Given the description of an element on the screen output the (x, y) to click on. 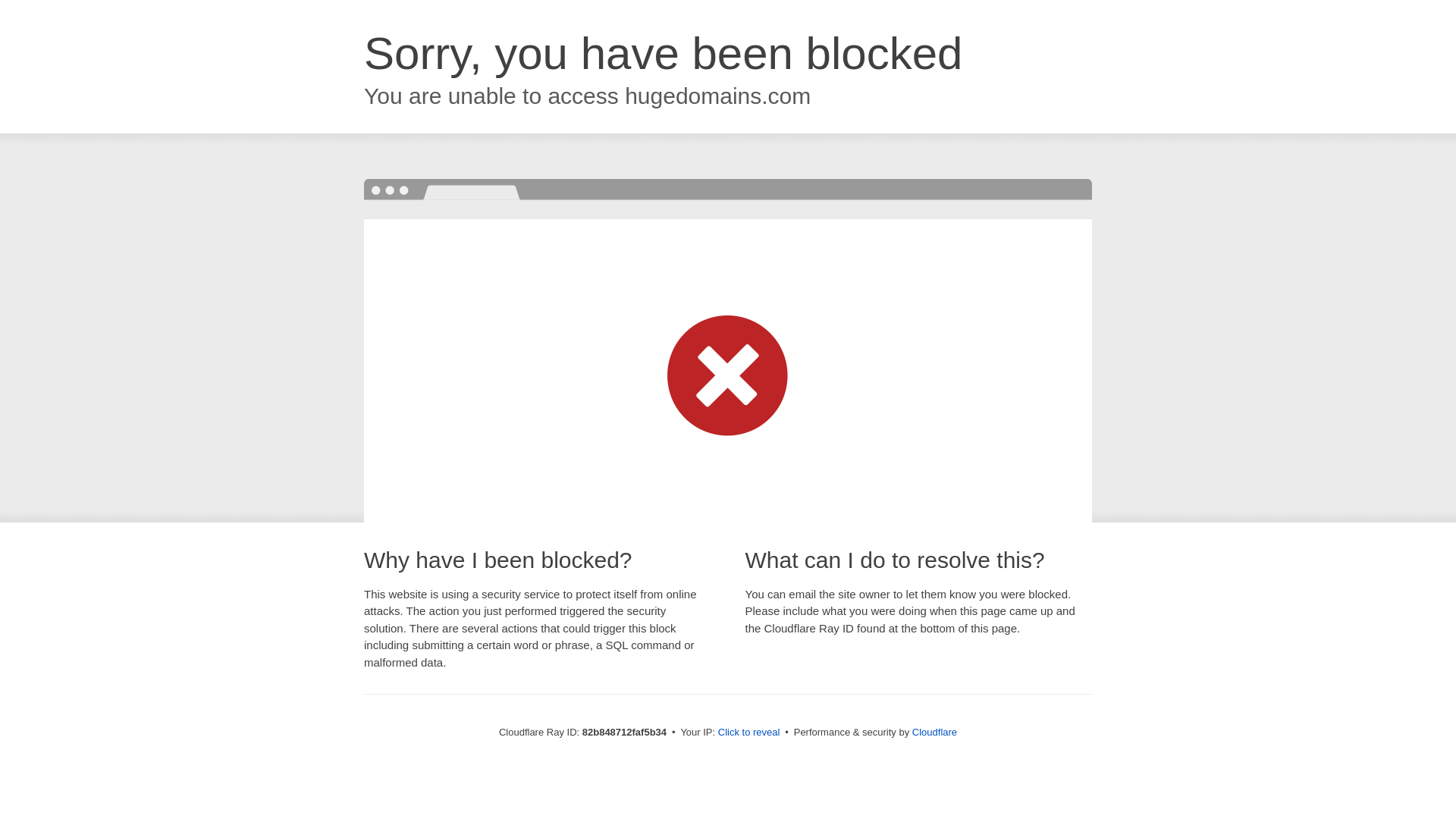
Cloudflare Element type: text (934, 731)
Click to reveal Element type: text (749, 732)
